Given the description of an element on the screen output the (x, y) to click on. 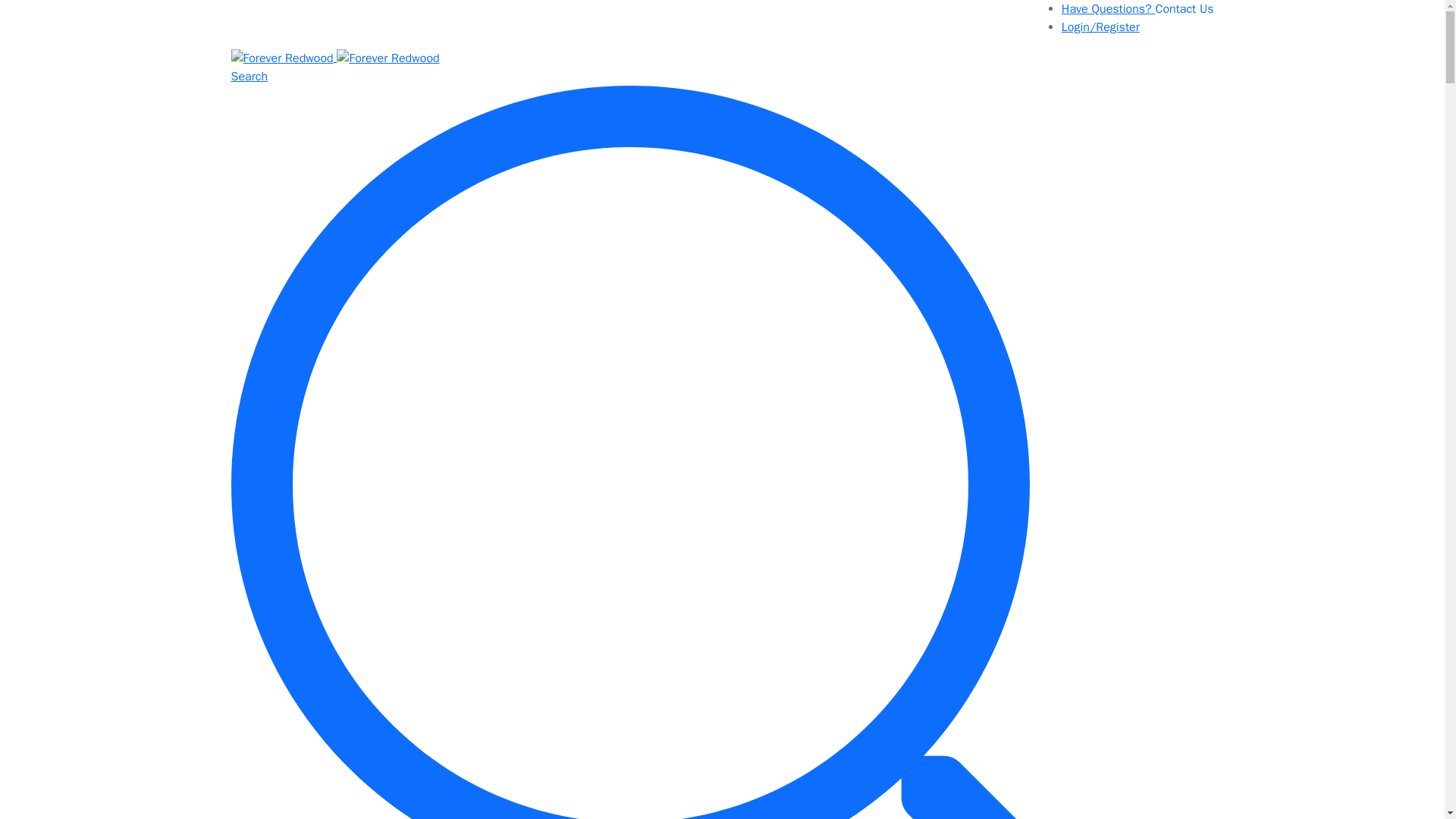
Have Questions? (1137, 8)
Have Questions? Contact Us (1137, 8)
